Given the description of an element on the screen output the (x, y) to click on. 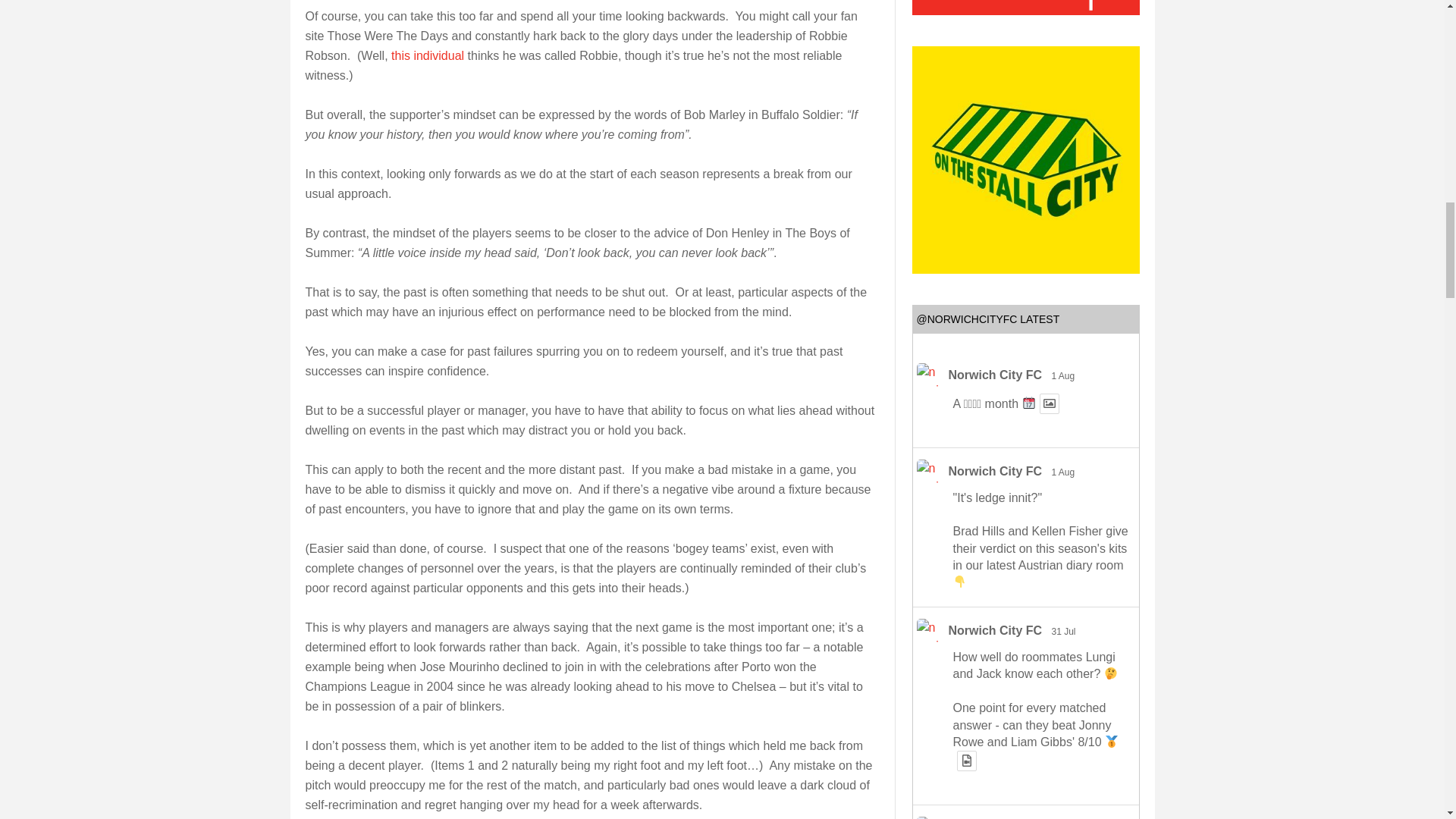
this individual (427, 55)
